Given the description of an element on the screen output the (x, y) to click on. 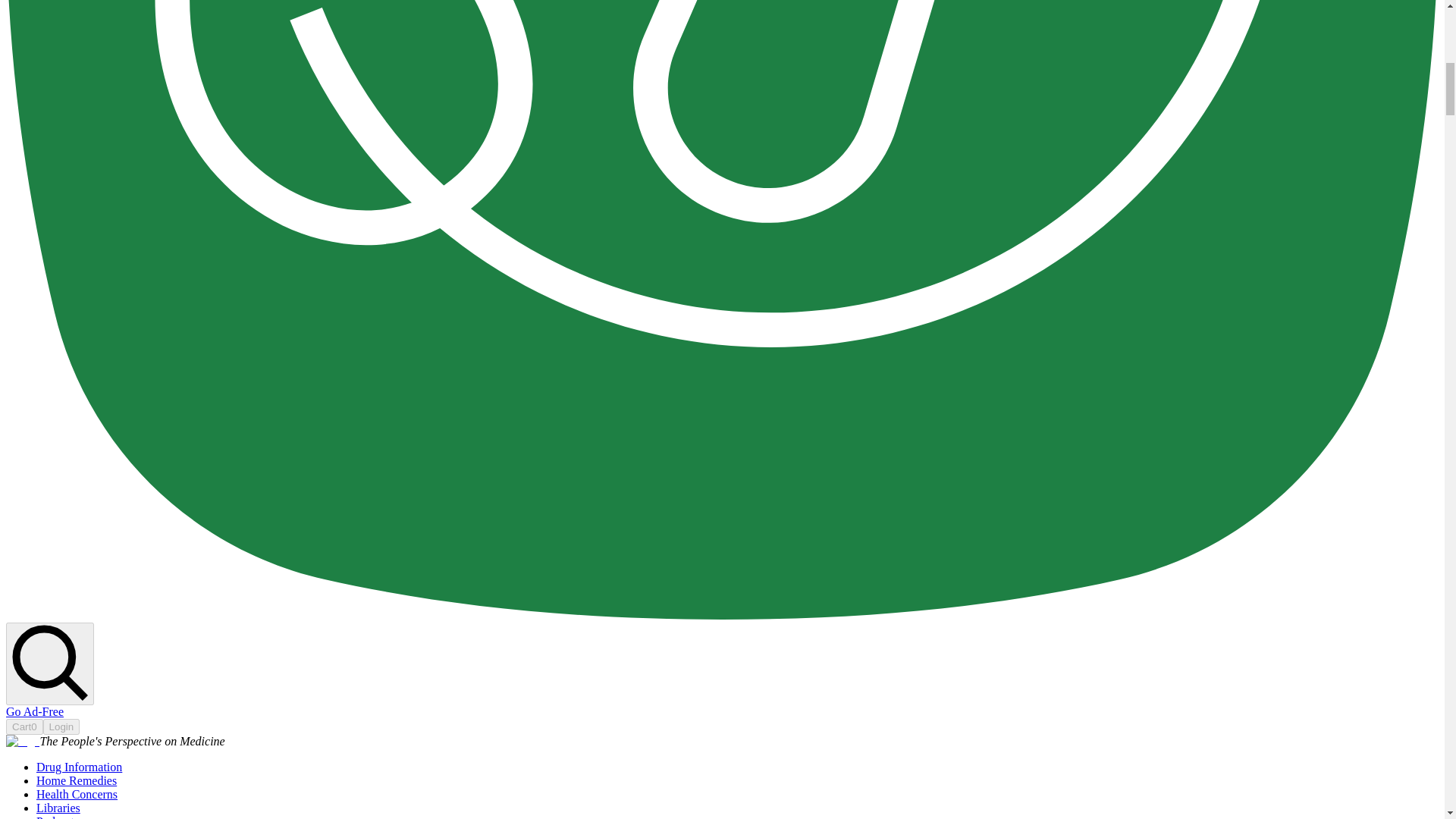
Drug Information (79, 766)
Podcasts (57, 816)
Login (61, 726)
Home Remedies (76, 780)
Health Concerns (76, 793)
Libraries (58, 807)
Cart0 (24, 726)
